Given the description of an element on the screen output the (x, y) to click on. 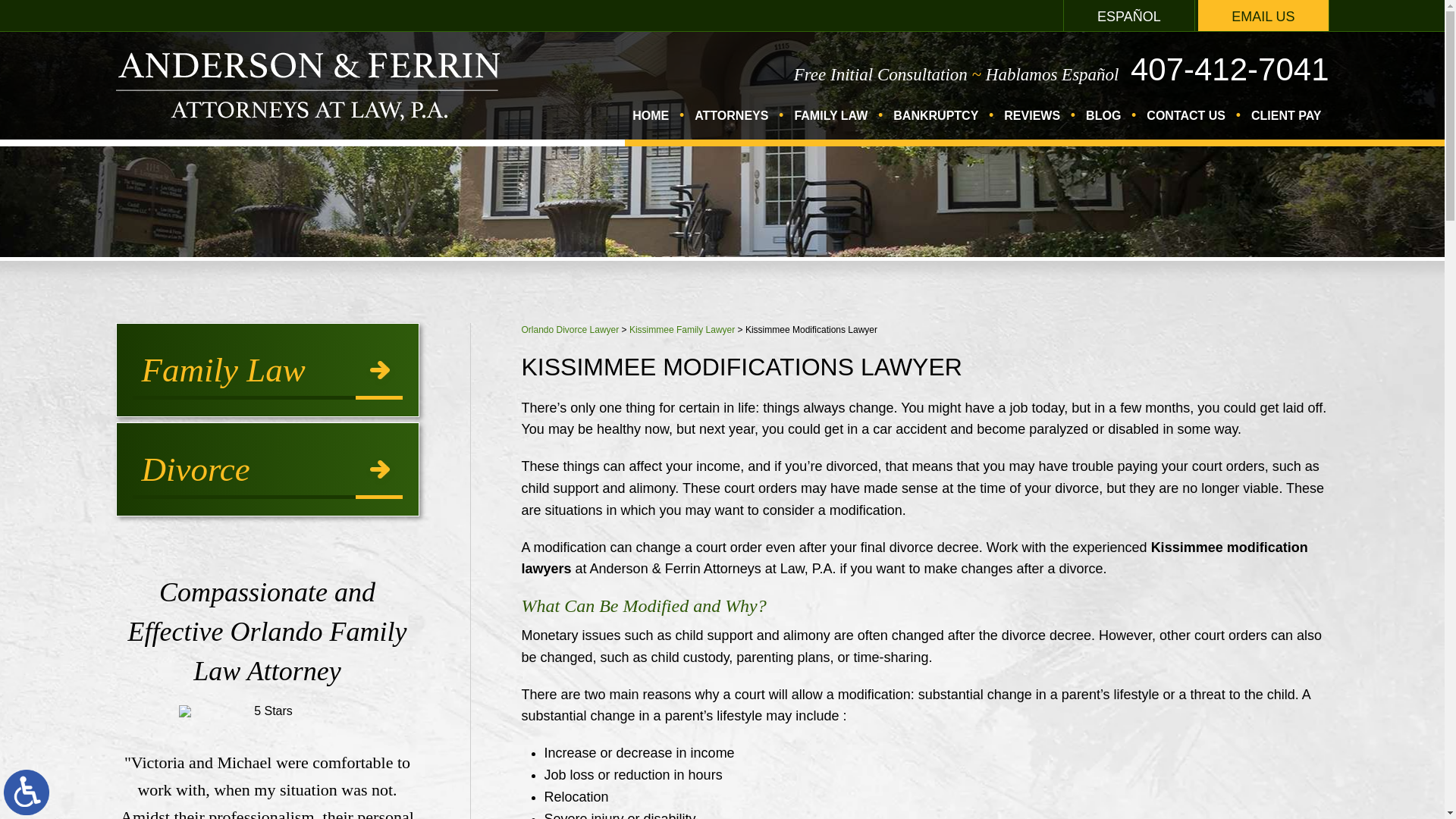
EMAIL US (1262, 15)
BANKRUPTCY (935, 124)
407-412-7041 (1230, 69)
ATTORNEYS (731, 124)
HOME (650, 124)
FAMILY LAW (830, 124)
